Given the description of an element on the screen output the (x, y) to click on. 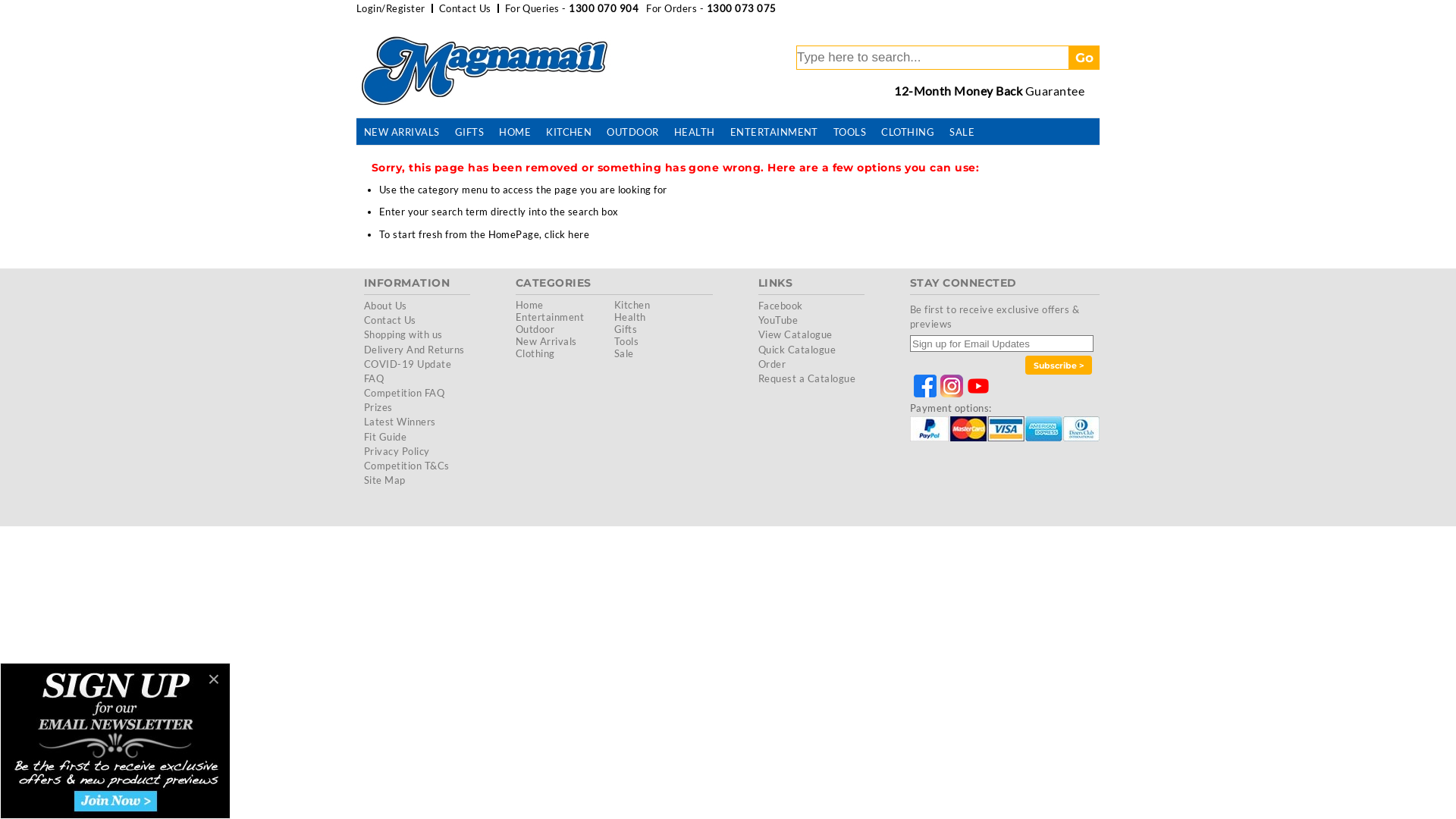
SALE Element type: text (961, 132)
YouTube Element type: text (777, 319)
Prizes Element type: text (378, 407)
KITCHEN Element type: text (568, 132)
Outdoor Element type: text (534, 329)
FAQ Element type: text (373, 378)
Kitchen Element type: text (631, 304)
Facebook Element type: text (780, 305)
Delivery And Returns Element type: text (414, 348)
Fit Guide Element type: text (385, 436)
Health Element type: text (630, 316)
Site Map Element type: text (384, 479)
HEALTH Element type: text (694, 132)
About Us Element type: text (385, 305)
NEW ARRIVALS Element type: text (401, 132)
OUTDOOR Element type: text (632, 132)
Tools Element type: text (626, 341)
Sale Element type: text (623, 353)
Contact Us Element type: text (390, 319)
Gifts Element type: text (625, 329)
Login/Register Element type: text (390, 8)
New Arrivals Element type: text (546, 341)
Competition FAQ Element type: text (404, 392)
Entertainment Element type: text (549, 316)
HOME Element type: text (514, 132)
View Catalogue Element type: text (795, 334)
Competition T&Cs Element type: text (406, 465)
Home Element type: text (529, 304)
TOOLS Element type: text (849, 132)
Quick Catalogue Order Element type: text (796, 355)
here Element type: text (578, 234)
Privacy Policy Element type: text (396, 451)
Request a Catalogue Element type: text (806, 378)
Shopping with us Element type: text (403, 334)
Contact Us Element type: text (465, 8)
Latest Winners Element type: text (400, 421)
CLOTHING Element type: text (907, 132)
GIFTS Element type: text (469, 132)
COVID-19 Update Element type: text (407, 363)
Clothing Element type: text (535, 353)
Go Element type: text (1084, 57)
ENTERTAINMENT Element type: text (773, 132)
